Given the description of an element on the screen output the (x, y) to click on. 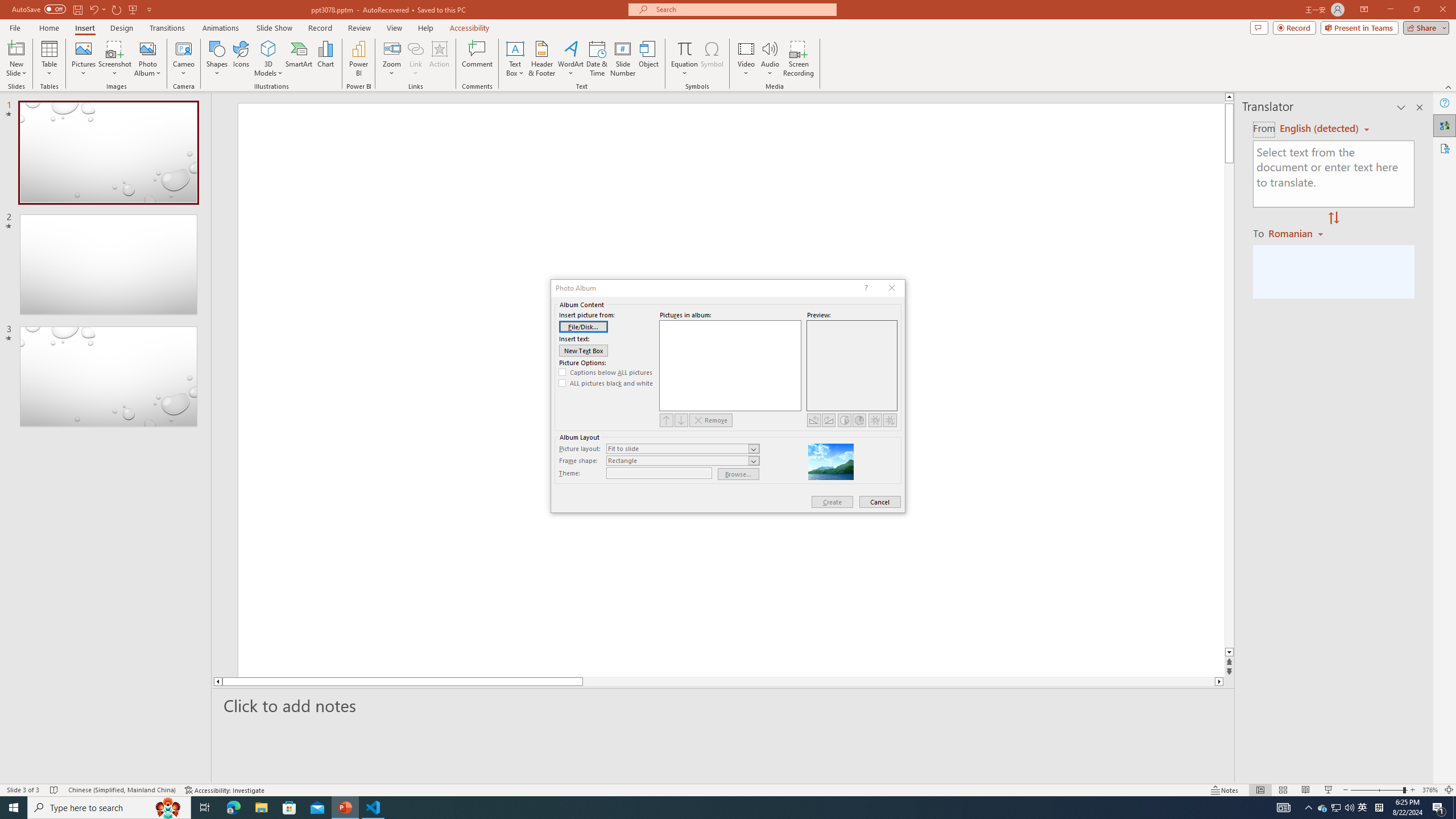
3D Models (268, 58)
Icons (240, 58)
Frame shape (682, 460)
New Text Box (583, 350)
